Given the description of an element on the screen output the (x, y) to click on. 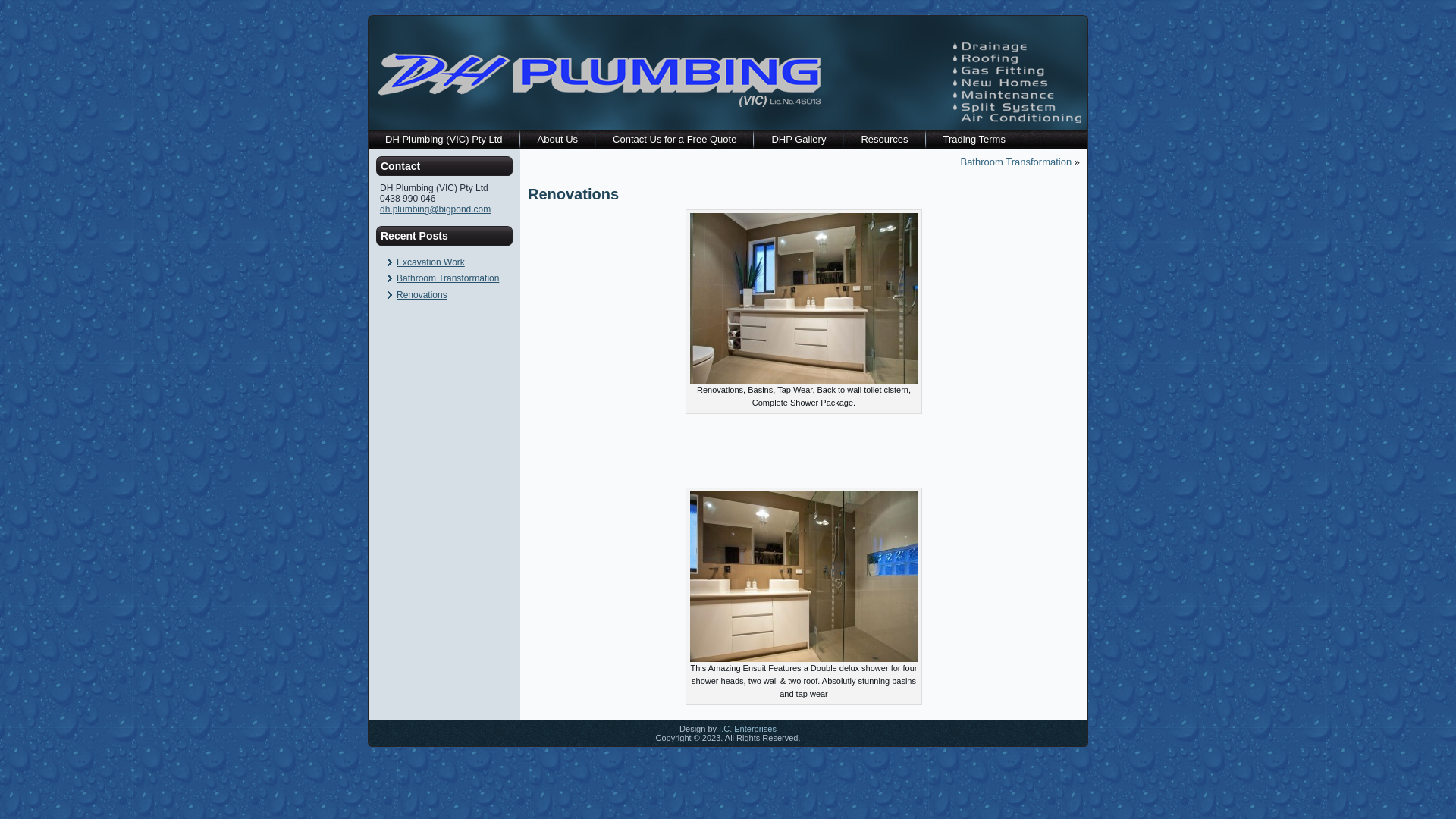
Renovations Element type: text (421, 294)
Trading Terms Element type: text (974, 138)
Bathroom Fit Out Element type: hover (803, 576)
DHP Gallery Element type: text (798, 138)
Excavation Work Element type: text (430, 262)
Bathroom Transformation Element type: text (447, 278)
dh.plumbing@bigpond.com Element type: text (434, 208)
Contact Us for a Free Quote Element type: text (674, 138)
Bathroom Transformation Element type: text (1015, 161)
Resources Element type: text (884, 138)
About Us Element type: text (557, 138)
DH Plumbing (VIC) Pty Ltd Element type: text (443, 138)
I.C. Enterprises Element type: text (747, 728)
